Given the description of an element on the screen output the (x, y) to click on. 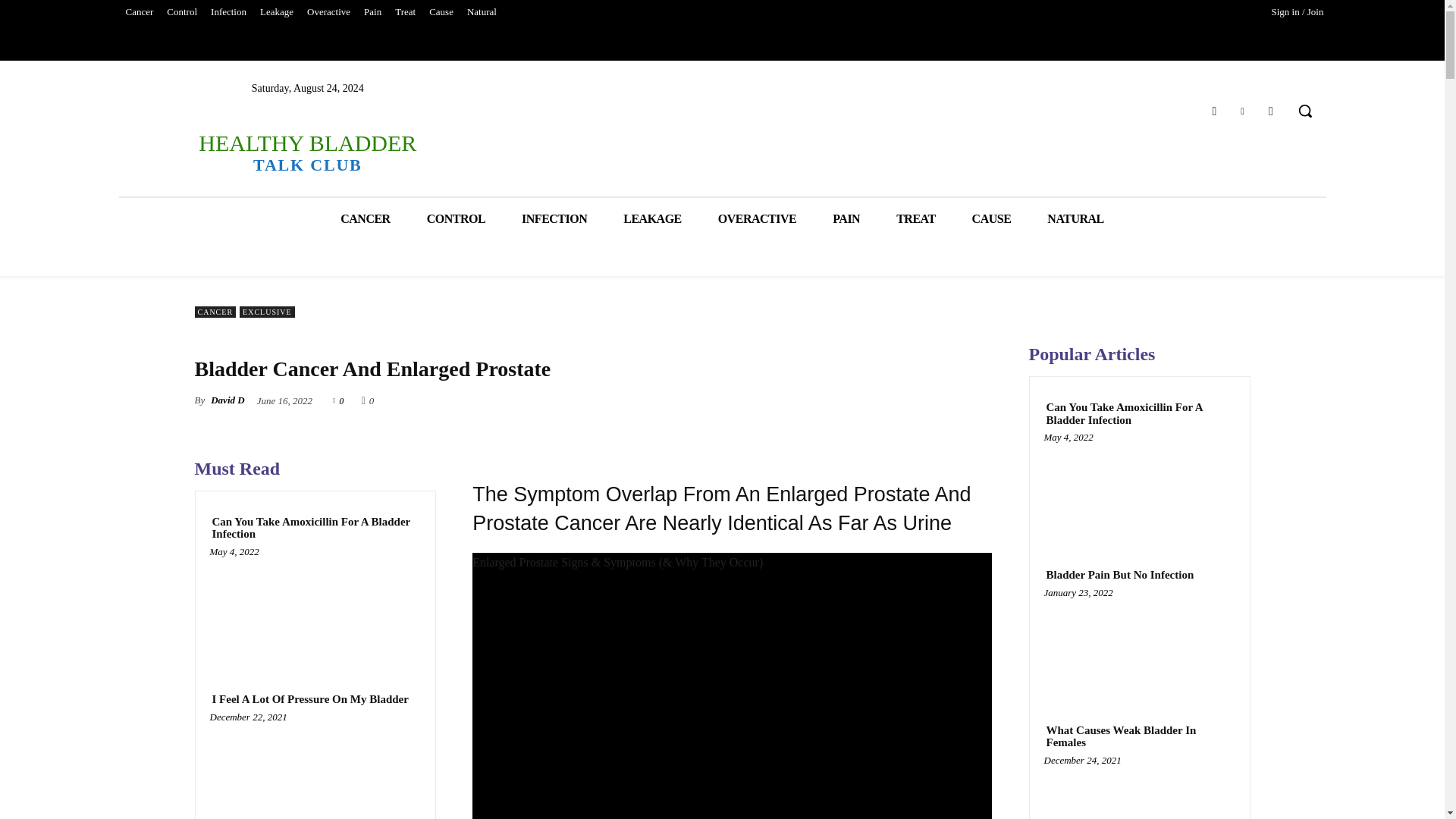
Treat (405, 12)
CANCER (364, 218)
Overactive (327, 12)
CONTROL (456, 218)
Natural (481, 12)
NATURAL (1075, 218)
CAUSE (991, 218)
Infection (228, 12)
Leakage (276, 12)
Control (181, 12)
